Given the description of an element on the screen output the (x, y) to click on. 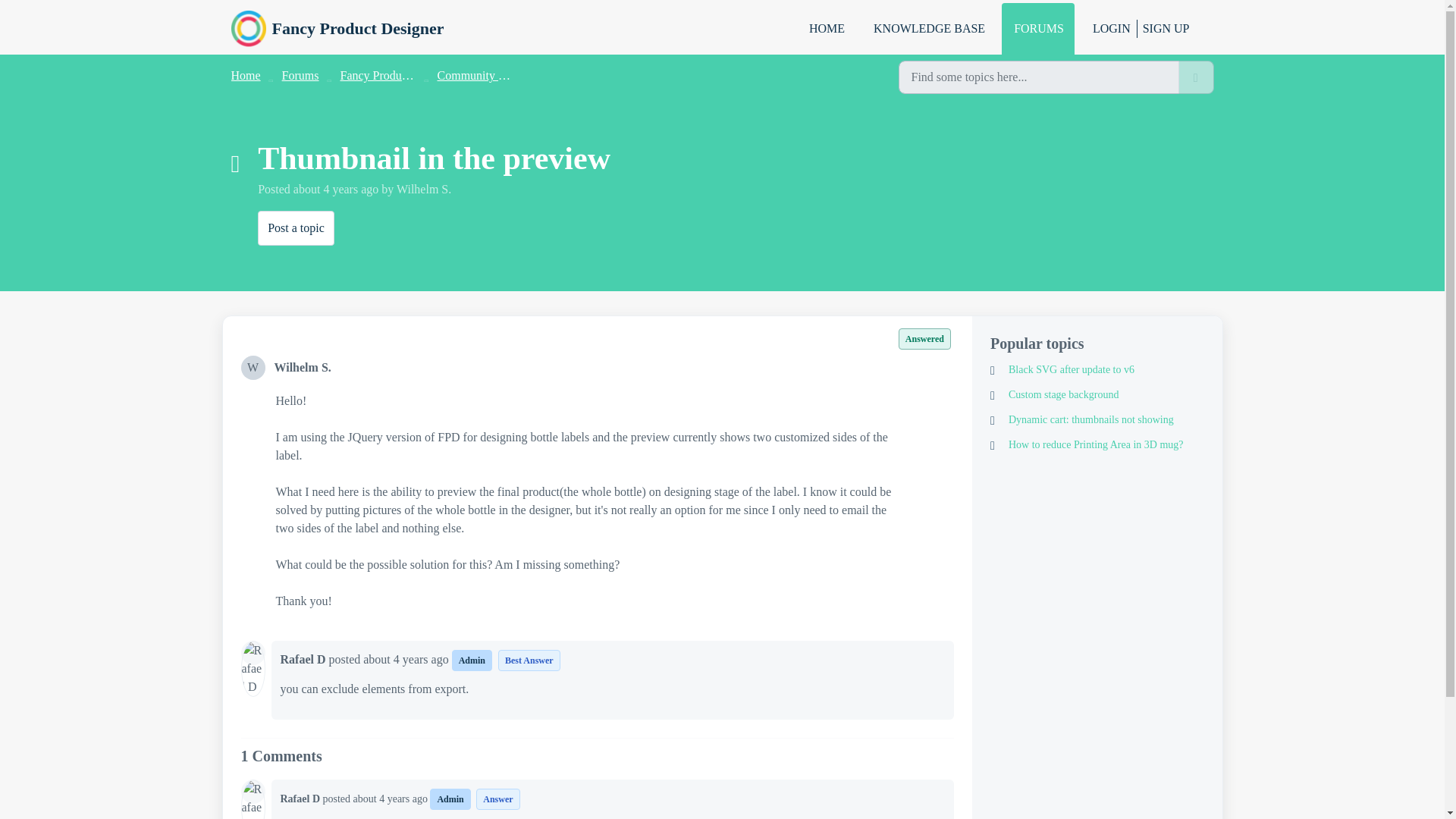
Fancy Product Designer (337, 28)
Fancy Product Designer (358, 28)
How to reduce Printing Area in 3D mug? (1097, 444)
SIGN UP (1163, 28)
Fancy Product Designer (399, 74)
FORUMS (1037, 28)
HOME (826, 28)
Black SVG after update to v6 (1097, 369)
Community Discussions (497, 74)
KNOWLEDGE BASE (928, 28)
Forums (300, 74)
Post a topic (295, 227)
Home (245, 74)
2 Jun, 2020 (406, 658)
2 Jun, 2020 (391, 798)
